Given the description of an element on the screen output the (x, y) to click on. 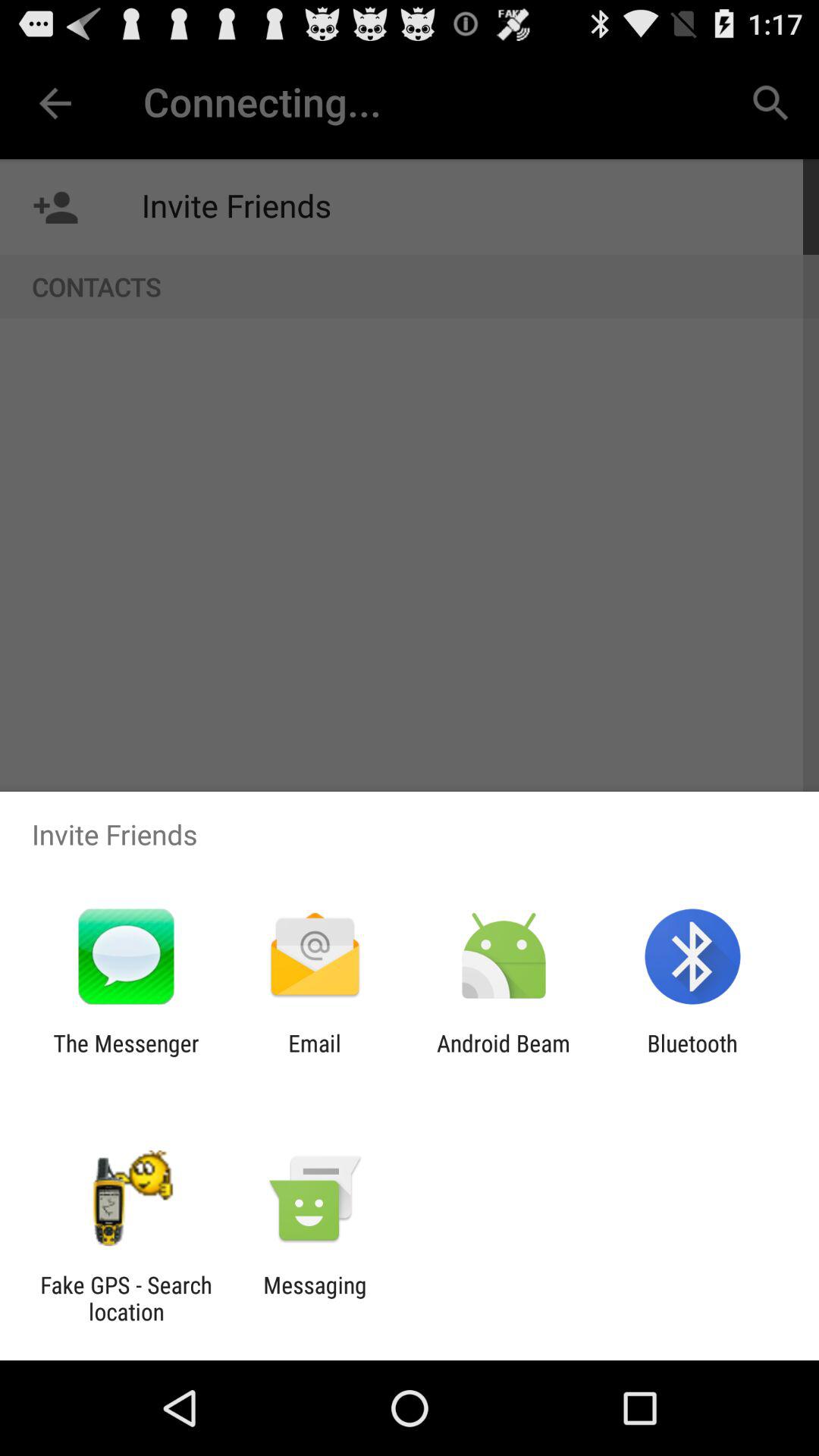
scroll to fake gps search (125, 1298)
